Given the description of an element on the screen output the (x, y) to click on. 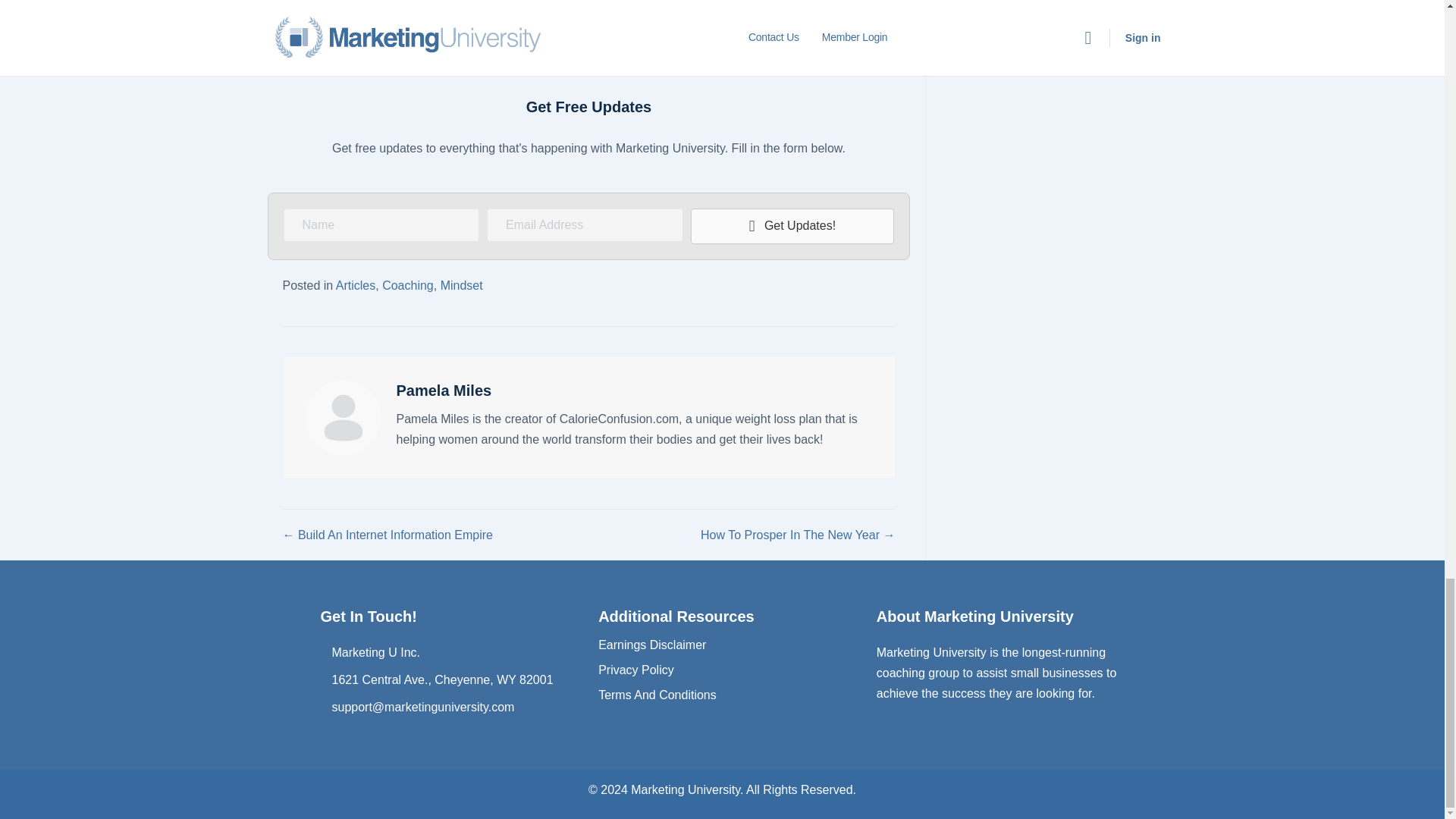
Facebook Landscape (588, 33)
Mindset (462, 285)
Get Updates! (792, 226)
Earnings Disclaimer (652, 644)
1621 Central Ave., Cheyenne, WY 82001 (442, 679)
Marketing U Inc. (375, 652)
Privacy Policy (636, 669)
Terms And Conditions (657, 694)
Articles (355, 285)
Coaching (407, 285)
